Given the description of an element on the screen output the (x, y) to click on. 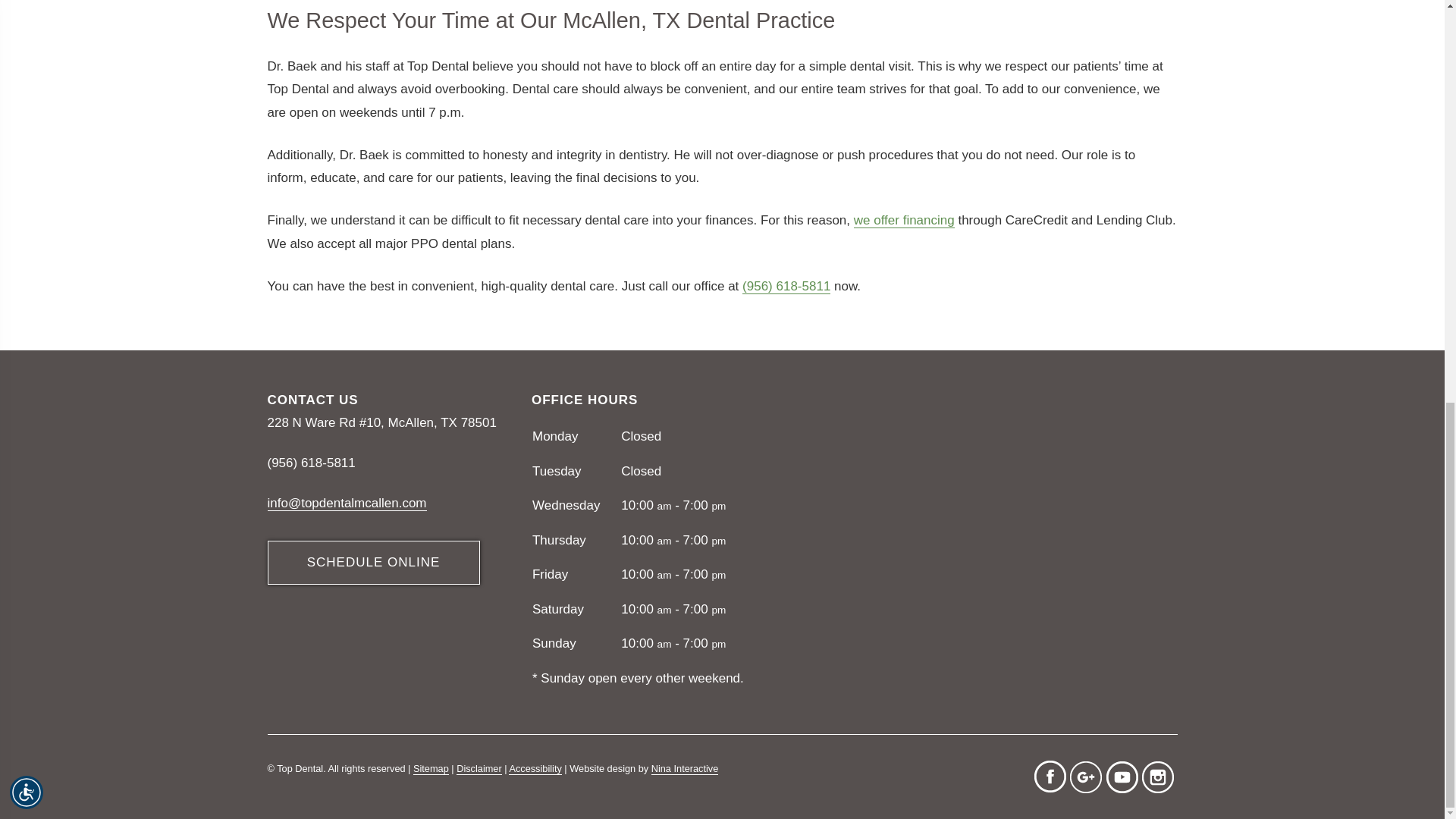
Accessibility Menu (26, 9)
